Given the description of an element on the screen output the (x, y) to click on. 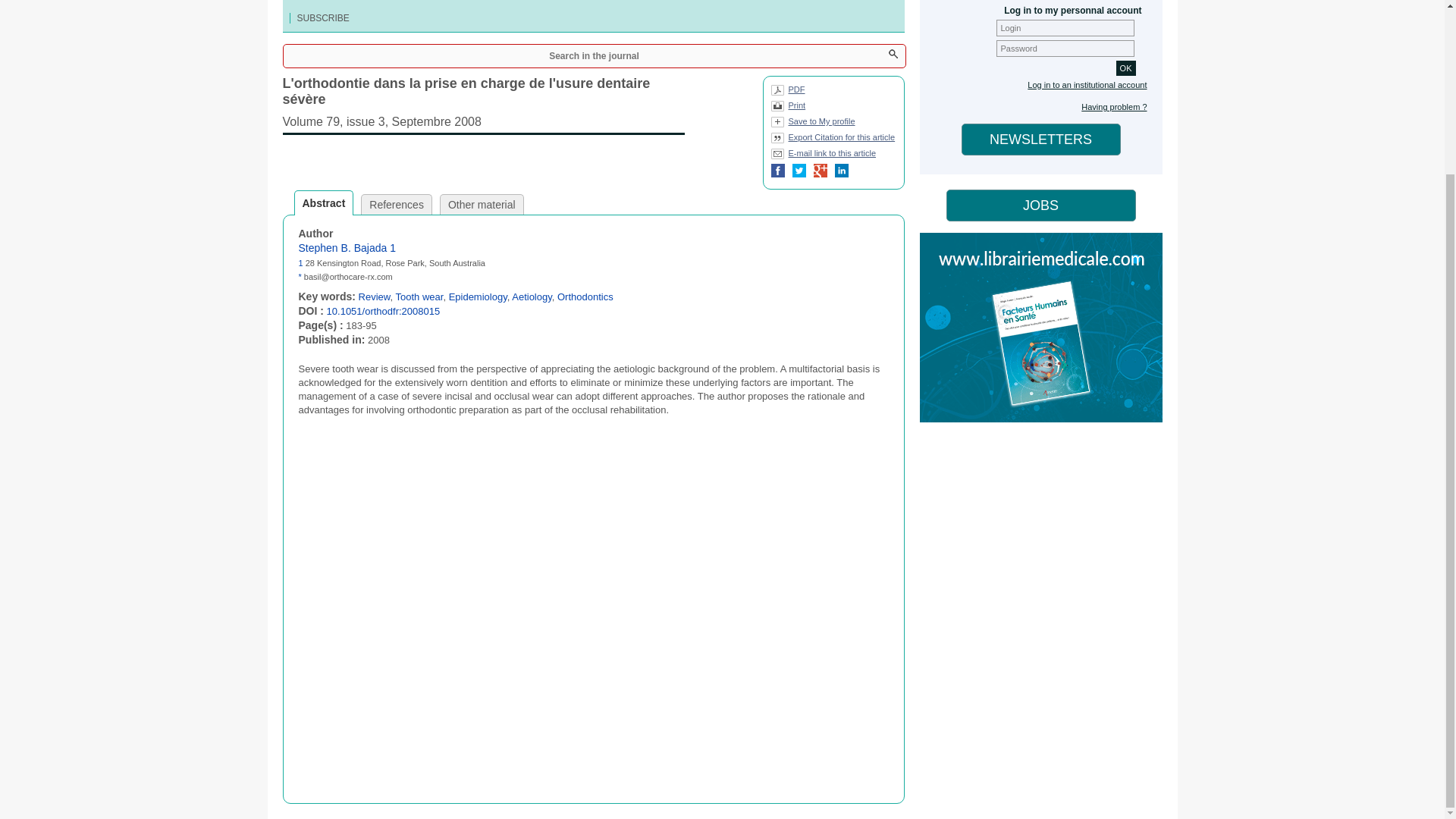
Citer cet article (832, 140)
Voir le sommaire de cette parution (483, 117)
Imprimer l'article (787, 108)
Version PDF : article dans le format PDF (787, 92)
OK (1125, 68)
